Given the description of an element on the screen output the (x, y) to click on. 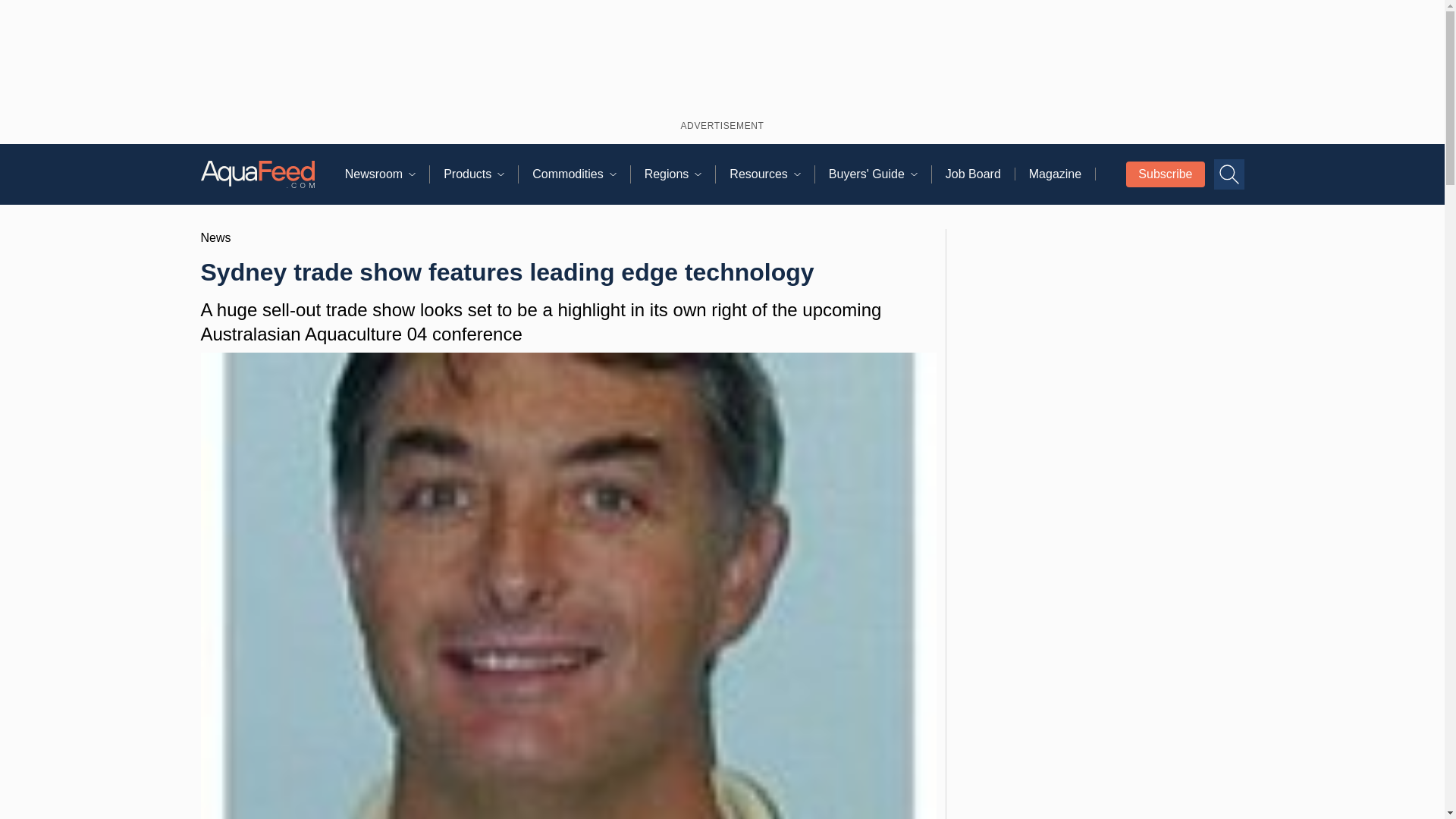
3rd party ad content (1100, 508)
3rd party ad content (1098, 743)
Newsroom (387, 174)
Regions (680, 174)
Buyers' Guide (879, 174)
Commodities (581, 174)
Products (481, 174)
3rd party ad content (722, 56)
Resources (771, 174)
